Given the description of an element on the screen output the (x, y) to click on. 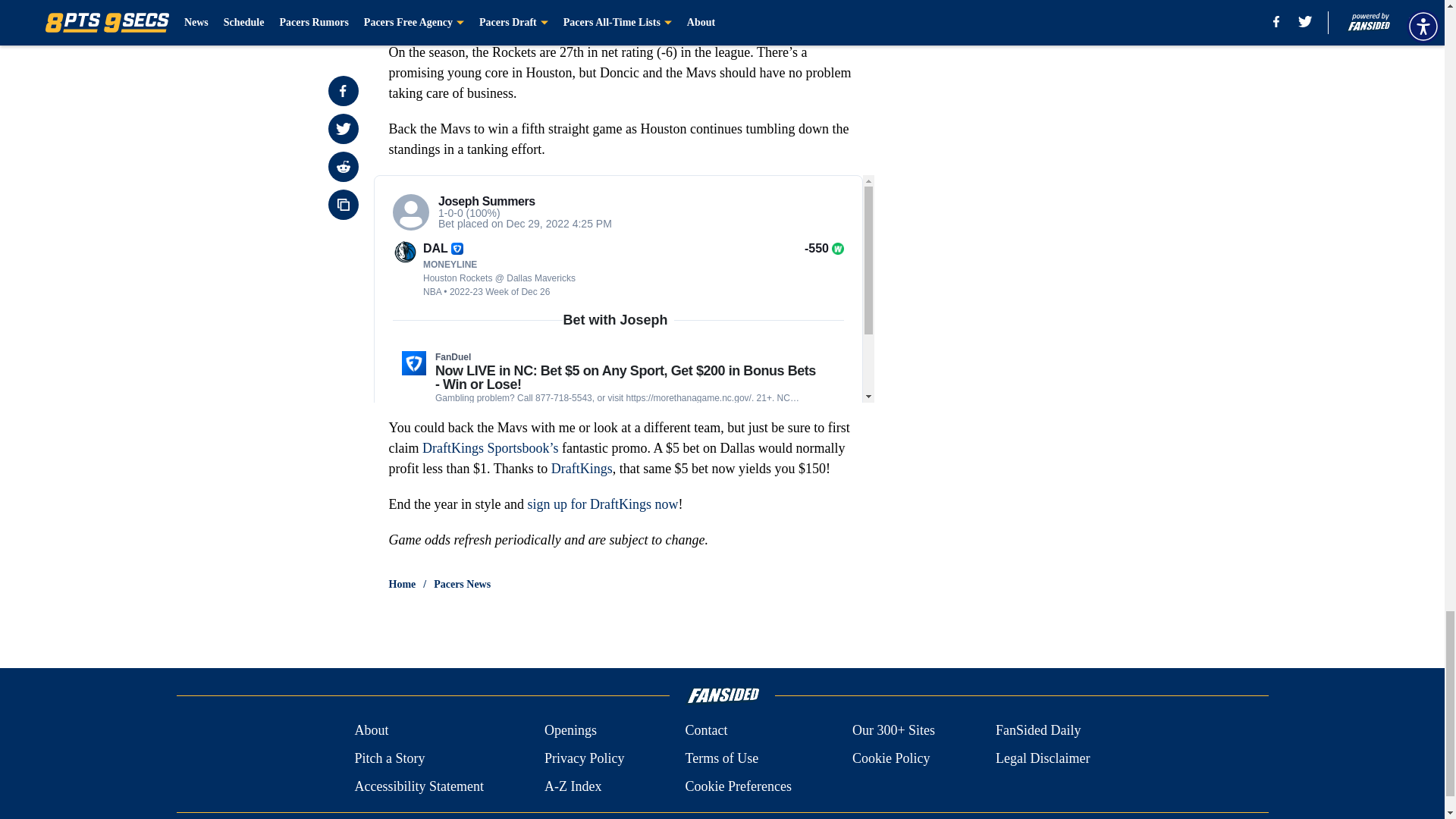
Home (401, 584)
tallysight (622, 288)
Pacers News (461, 584)
sign up for DraftKings now (602, 503)
About (370, 730)
DraftKings (581, 468)
